Given the description of an element on the screen output the (x, y) to click on. 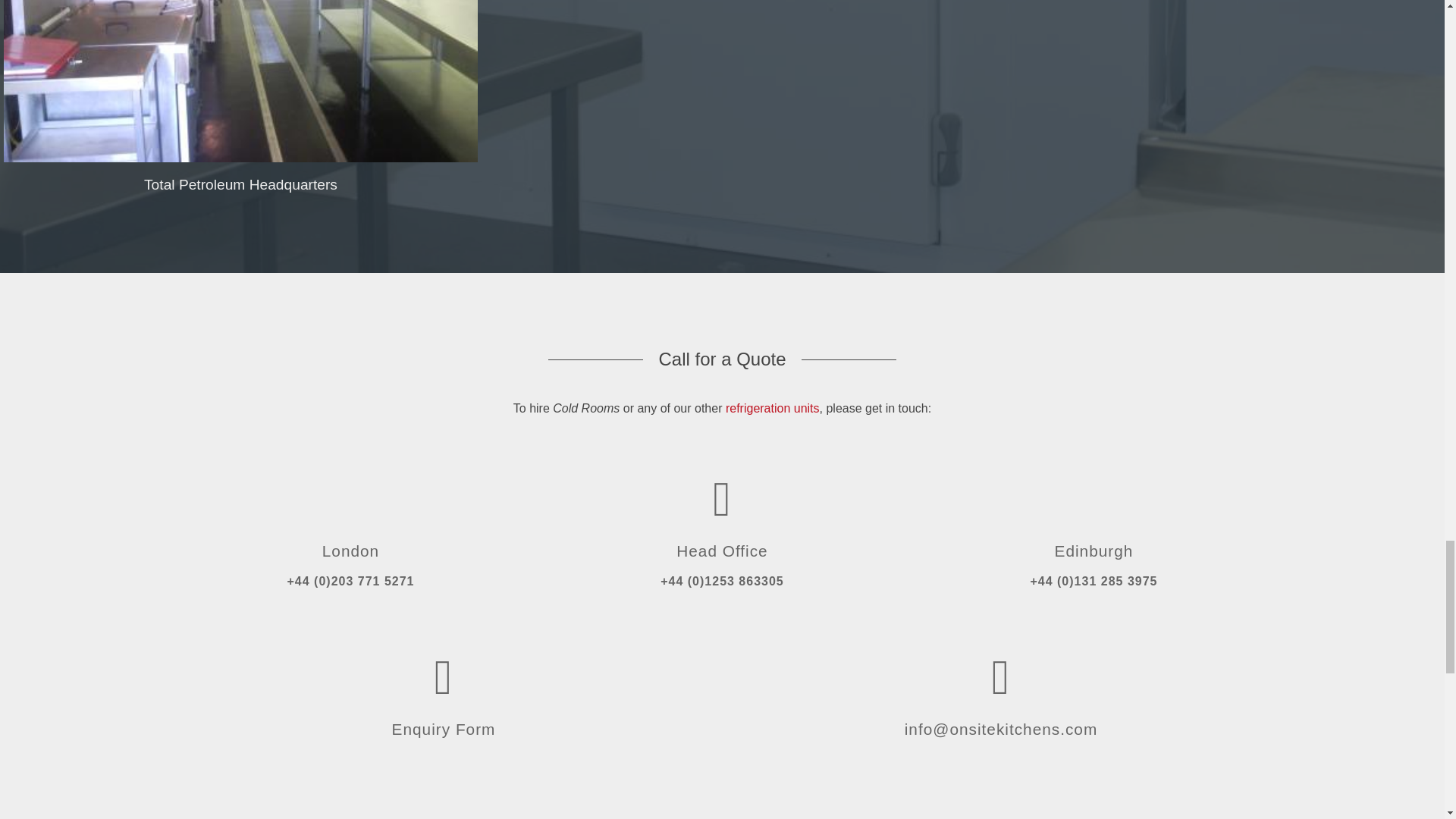
Total Petroleum Headquarters (240, 172)
refrigeration units (772, 408)
Total Petroleum Headquarters (240, 172)
Enquiry Form (443, 692)
